Given the description of an element on the screen output the (x, y) to click on. 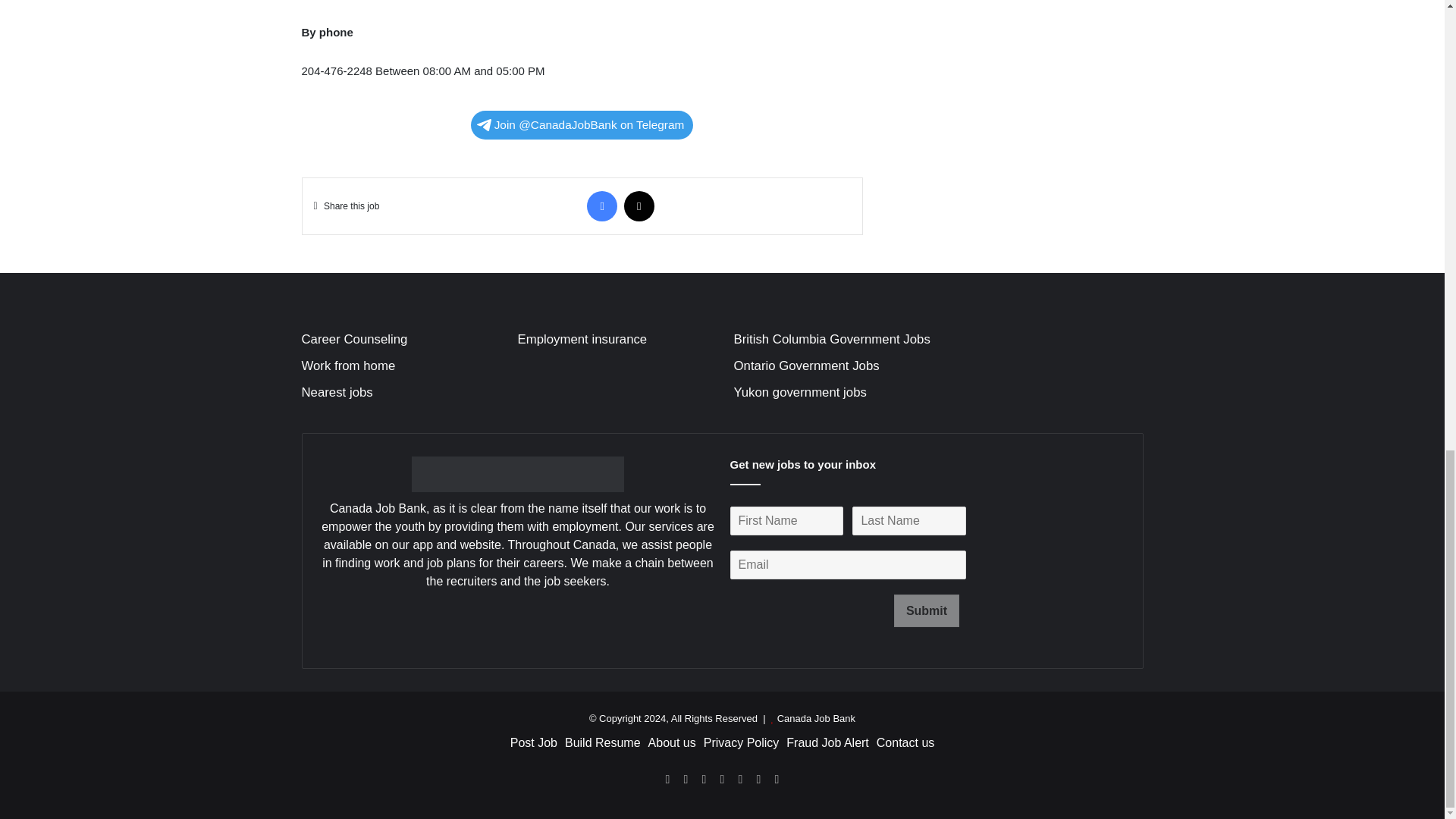
Facebook (601, 205)
Facebook (601, 205)
X (638, 205)
X (638, 205)
